Given the description of an element on the screen output the (x, y) to click on. 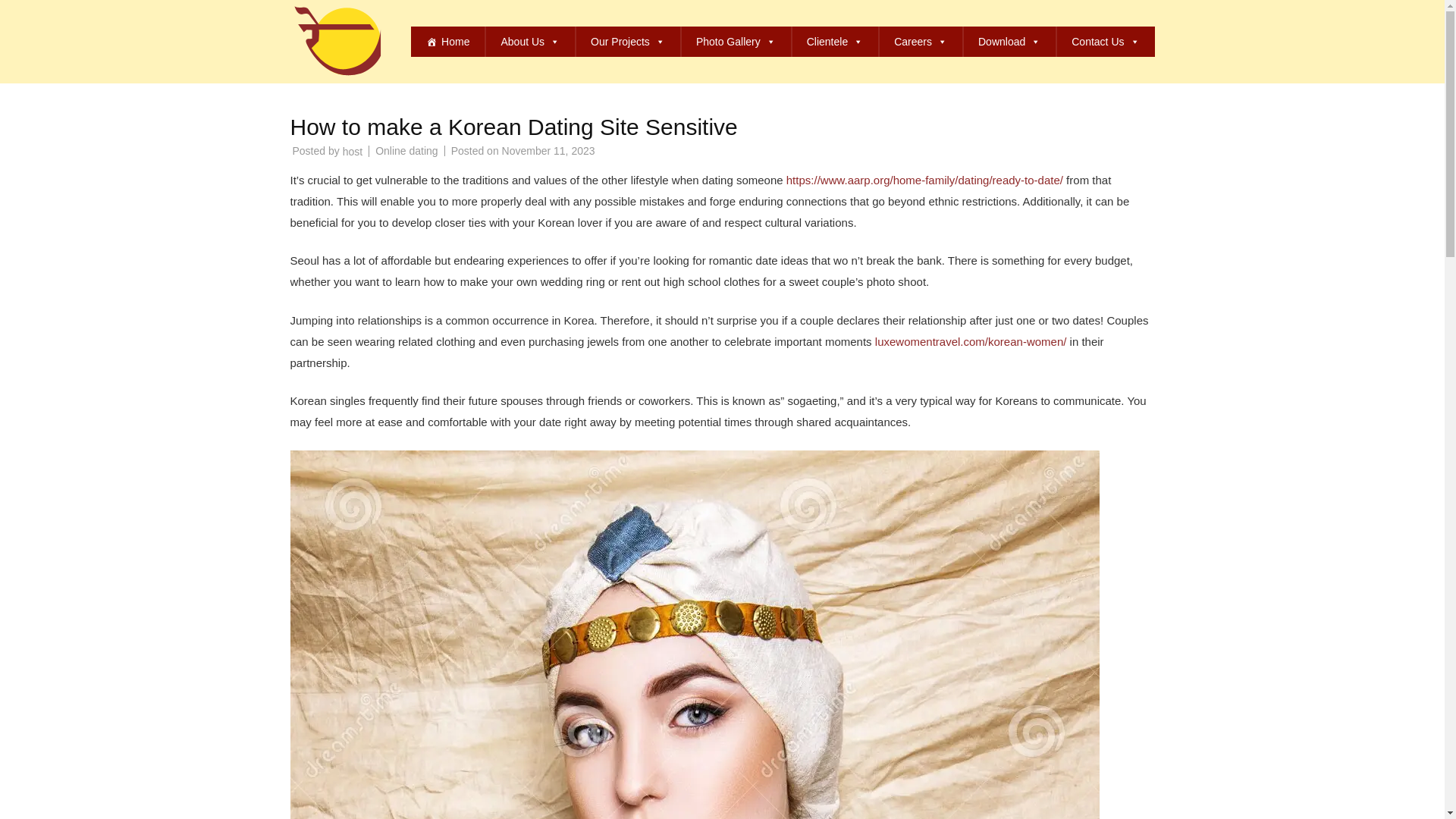
About Us (529, 41)
Our Projects (627, 41)
Home (447, 41)
RAY CONSTRUCTIONS LIMITED (533, 14)
Photo Gallery (735, 41)
